Given the description of an element on the screen output the (x, y) to click on. 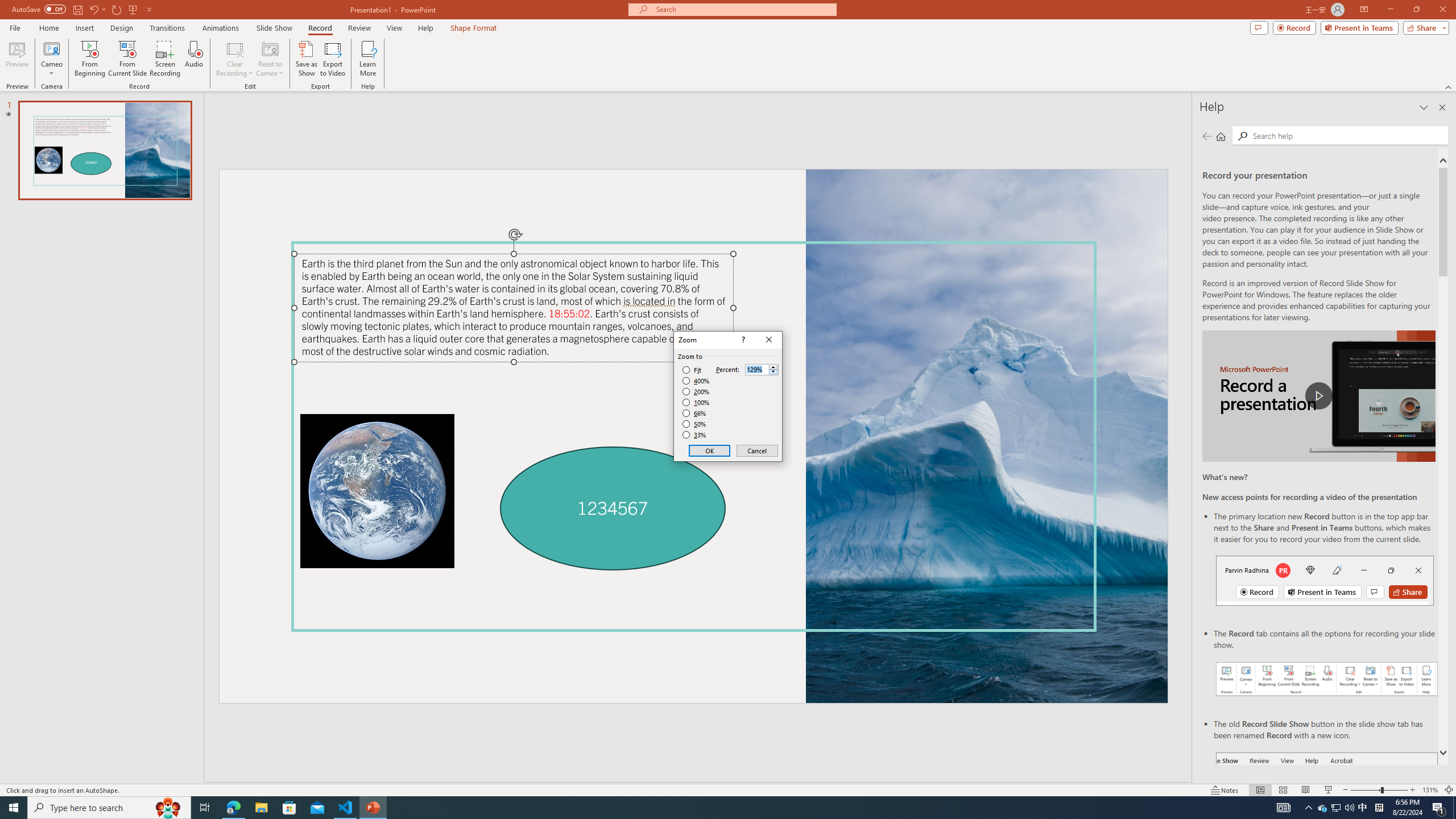
50% (694, 424)
Record your presentations screenshot one (1326, 678)
